Given the description of an element on the screen output the (x, y) to click on. 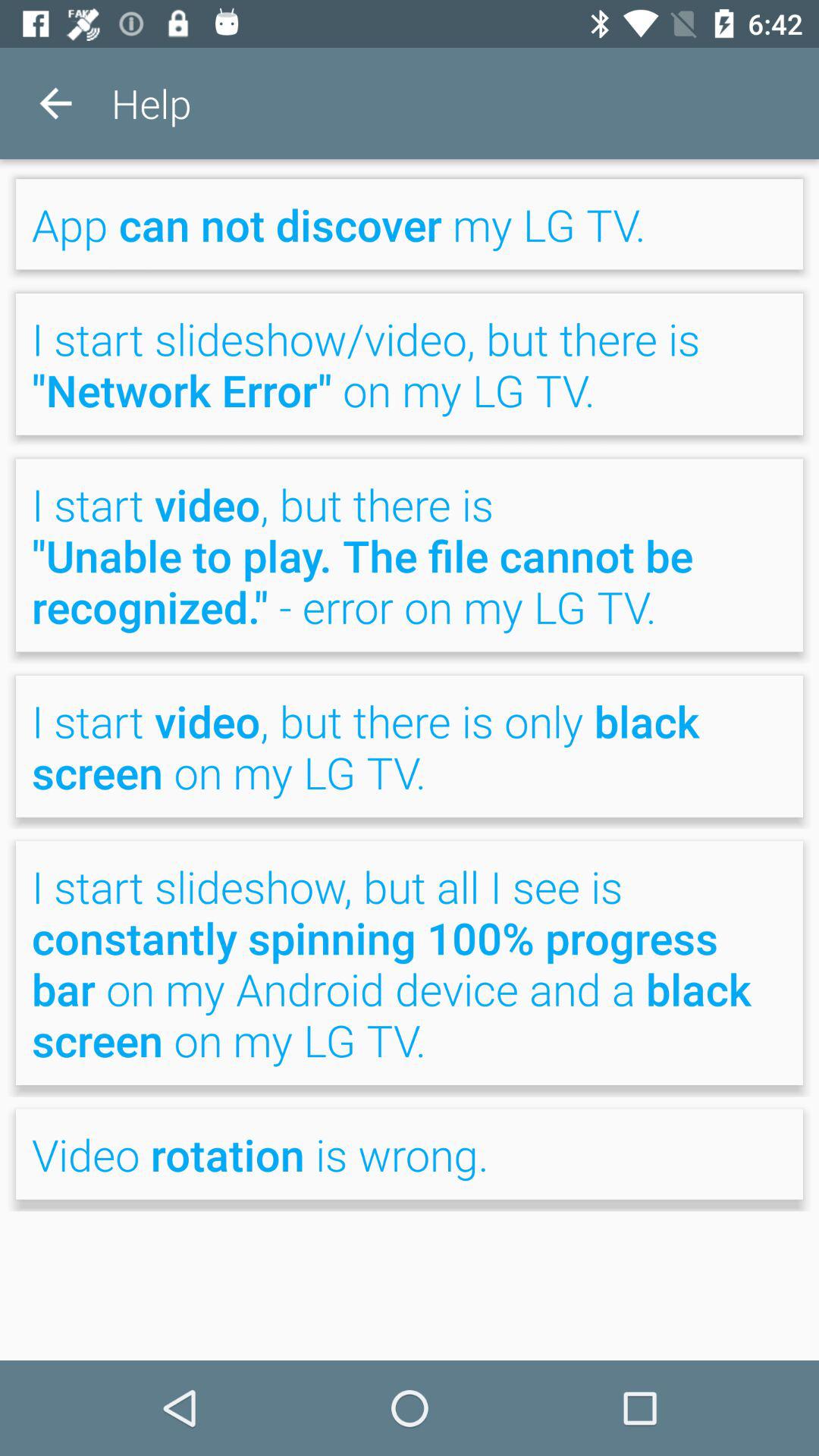
select item next to help item (55, 103)
